Given the description of an element on the screen output the (x, y) to click on. 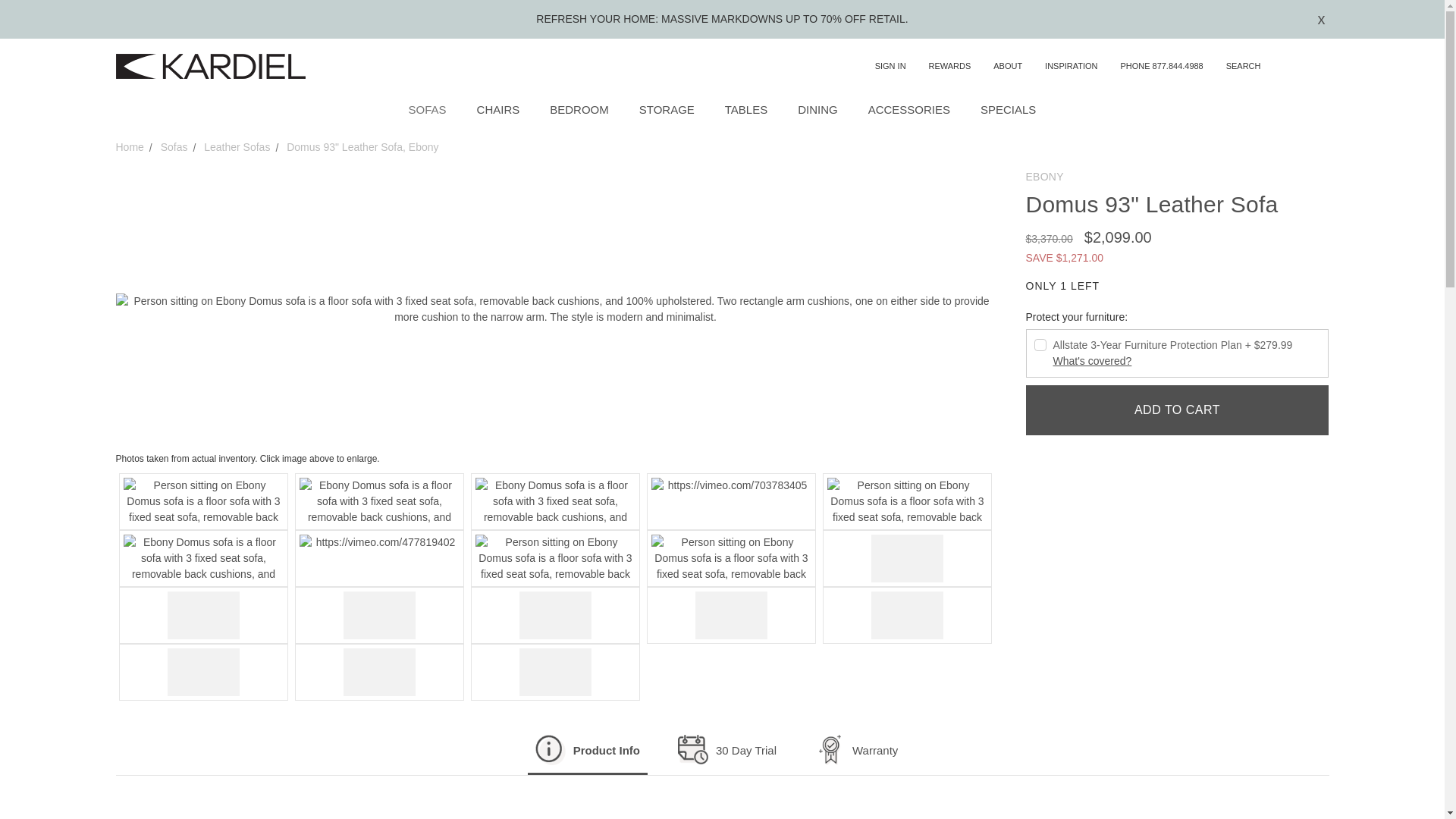
ABOUT (1007, 66)
Kardiel (209, 66)
CHAIRS (498, 110)
REWARDS (949, 66)
BEDROOM (578, 110)
INSPIRATION (1070, 66)
SEARCH (1256, 66)
SIGN IN (890, 66)
SOFAS (427, 110)
PHONE 877.844.4988 (1160, 66)
Add to Cart (1176, 409)
